Given the description of an element on the screen output the (x, y) to click on. 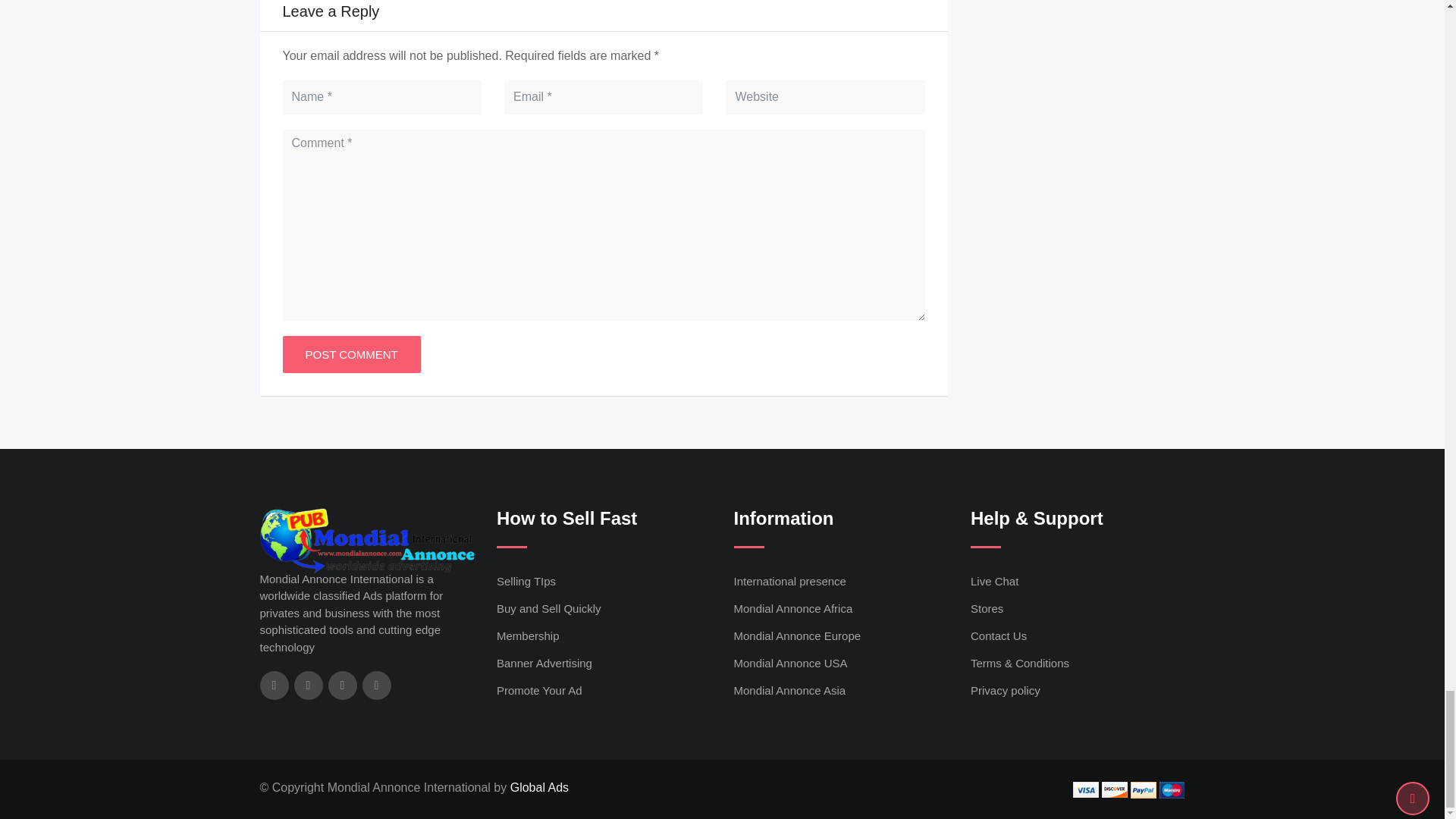
Post Comment (351, 354)
Post Comment (351, 354)
